Given the description of an element on the screen output the (x, y) to click on. 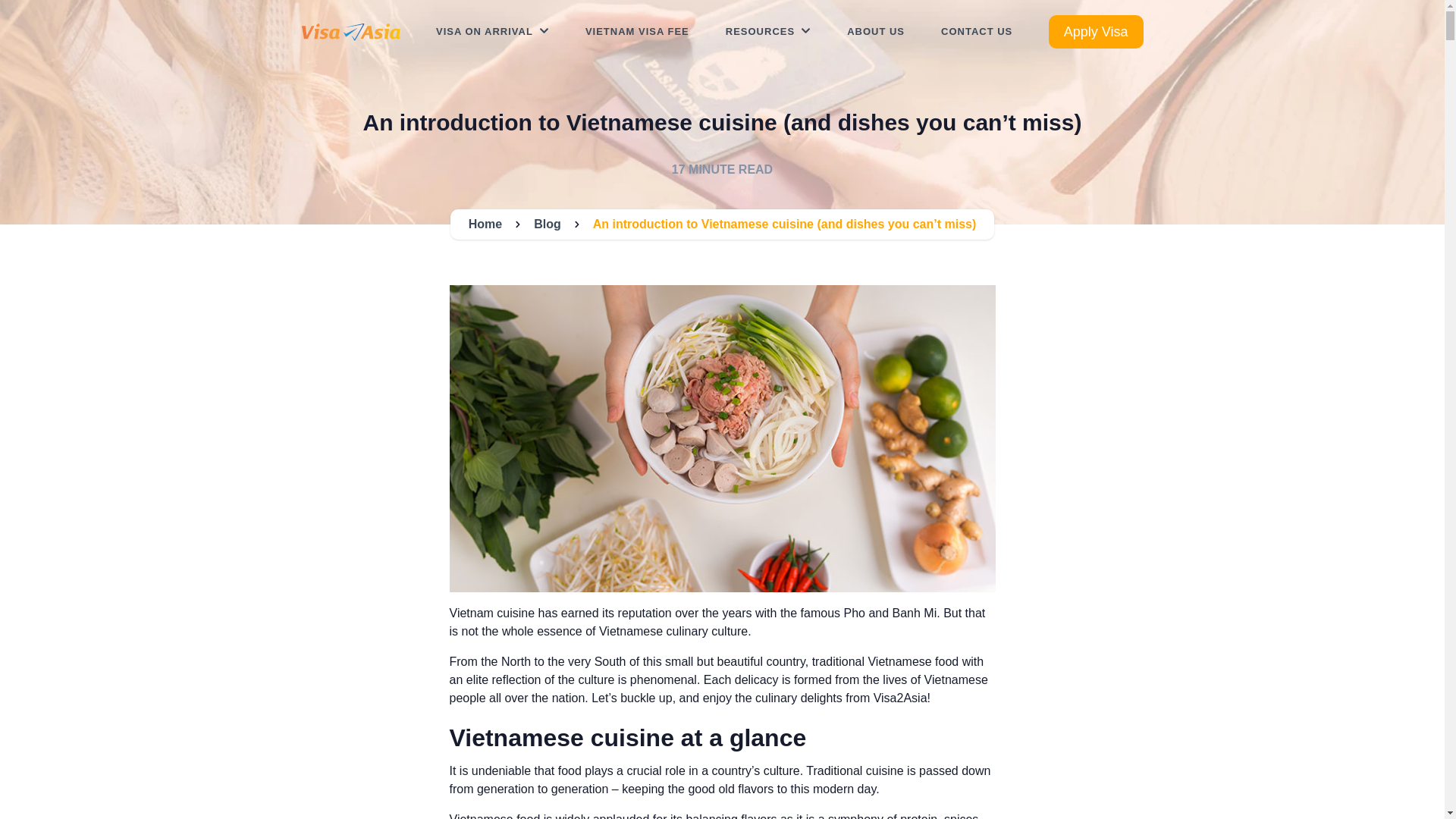
ABOUT US (875, 31)
Apply Visa (1095, 31)
VIETNAM VISA FEE (636, 31)
CONTACT US (975, 31)
VISA ON ARRIVAL (491, 31)
Home (485, 223)
Blog (547, 223)
